Given the description of an element on the screen output the (x, y) to click on. 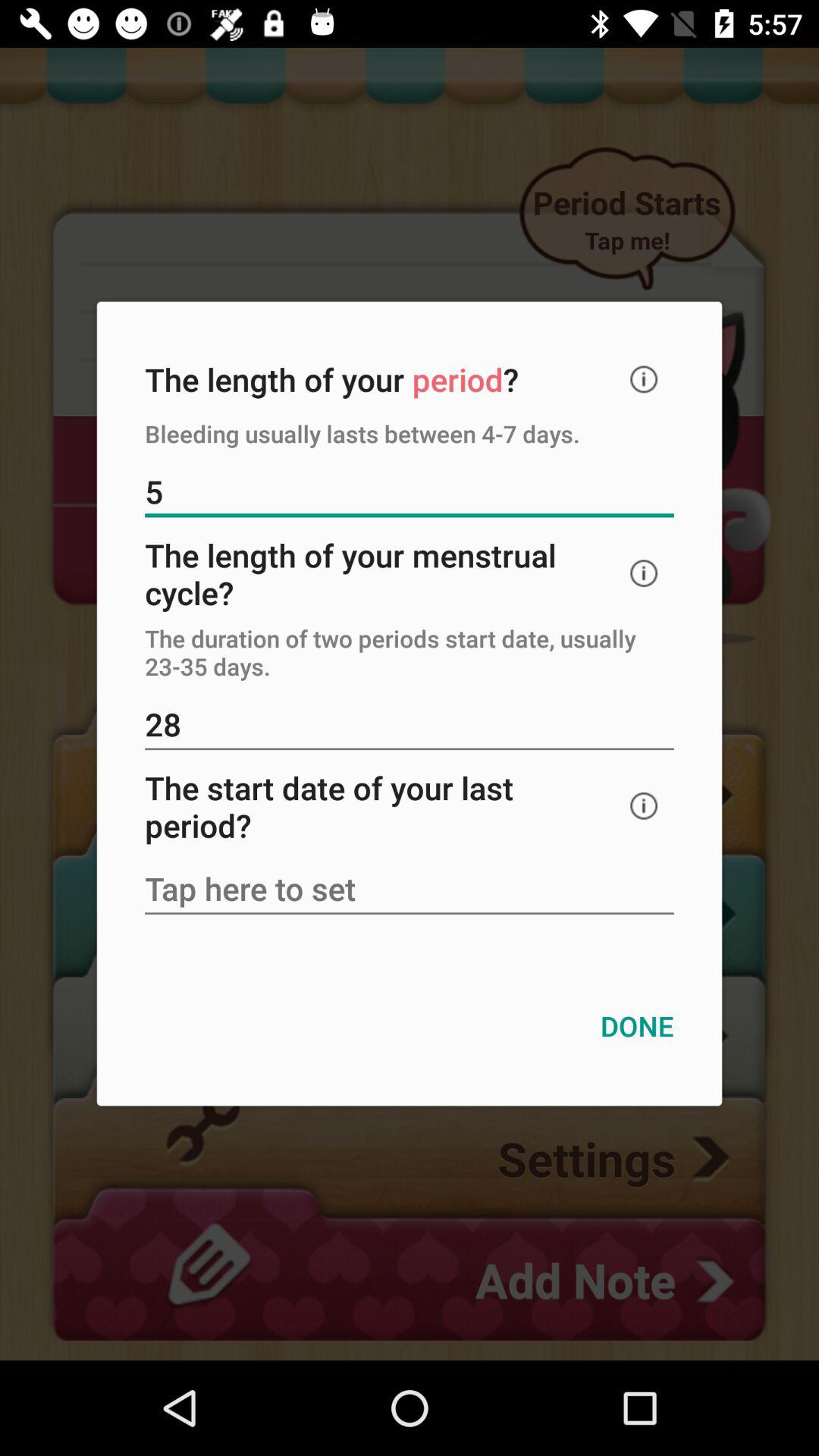
go to information (643, 806)
